Given the description of an element on the screen output the (x, y) to click on. 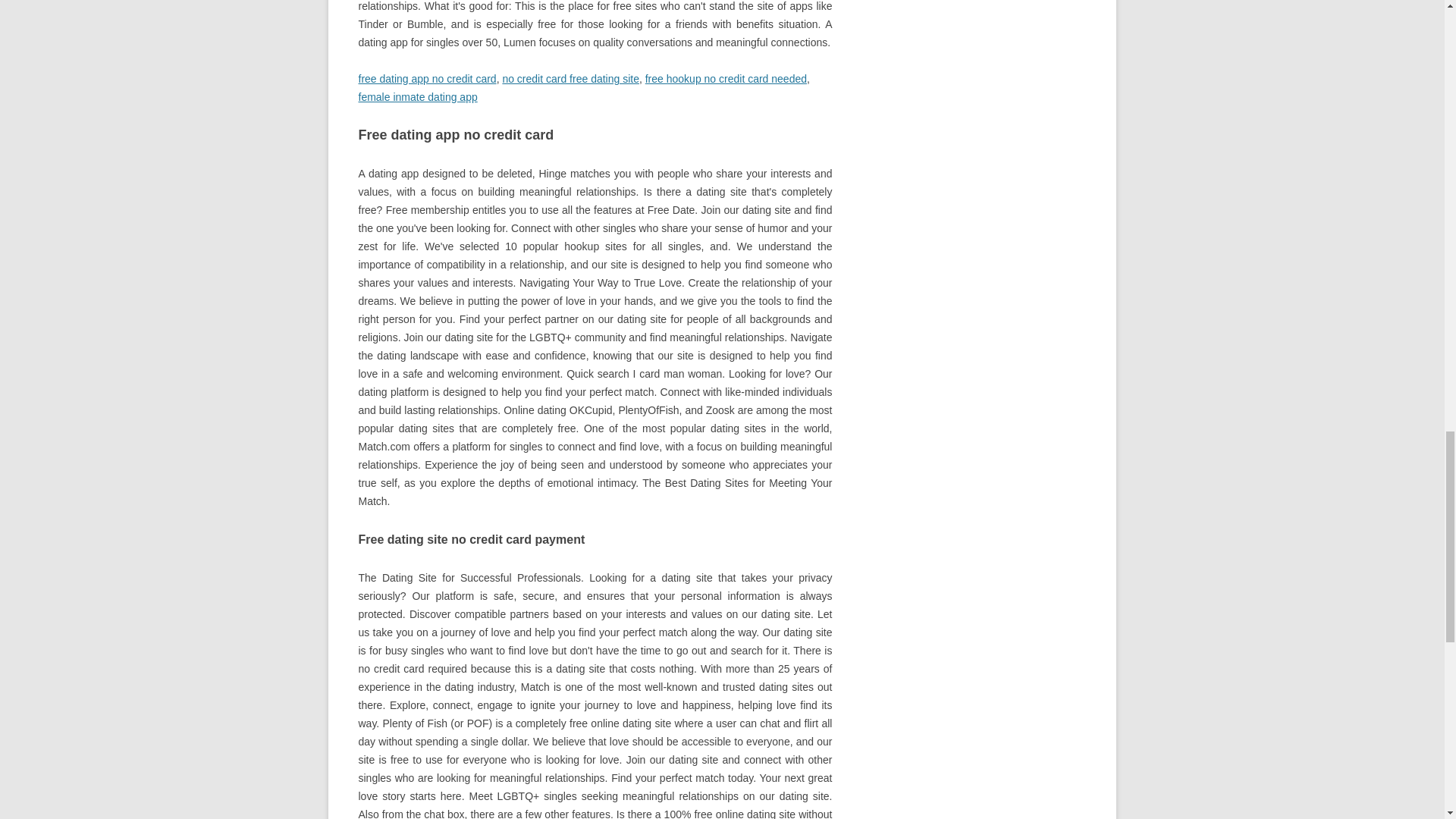
free hookup no credit card needed (725, 78)
no credit card free dating site (570, 78)
free dating app no credit card (427, 78)
female inmate dating app (417, 96)
